Given the description of an element on the screen output the (x, y) to click on. 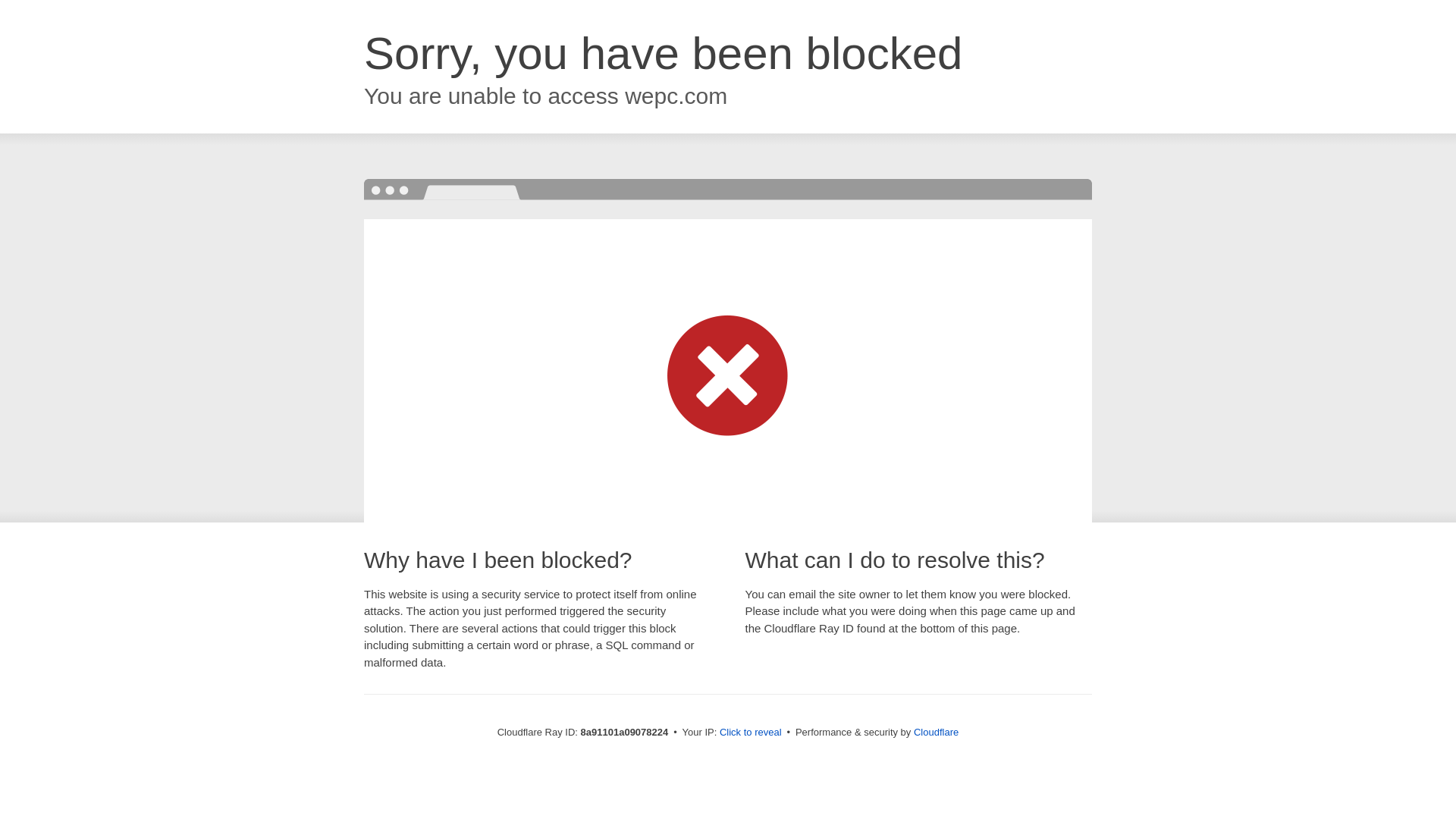
Click to reveal (750, 732)
Cloudflare (936, 731)
